Given the description of an element on the screen output the (x, y) to click on. 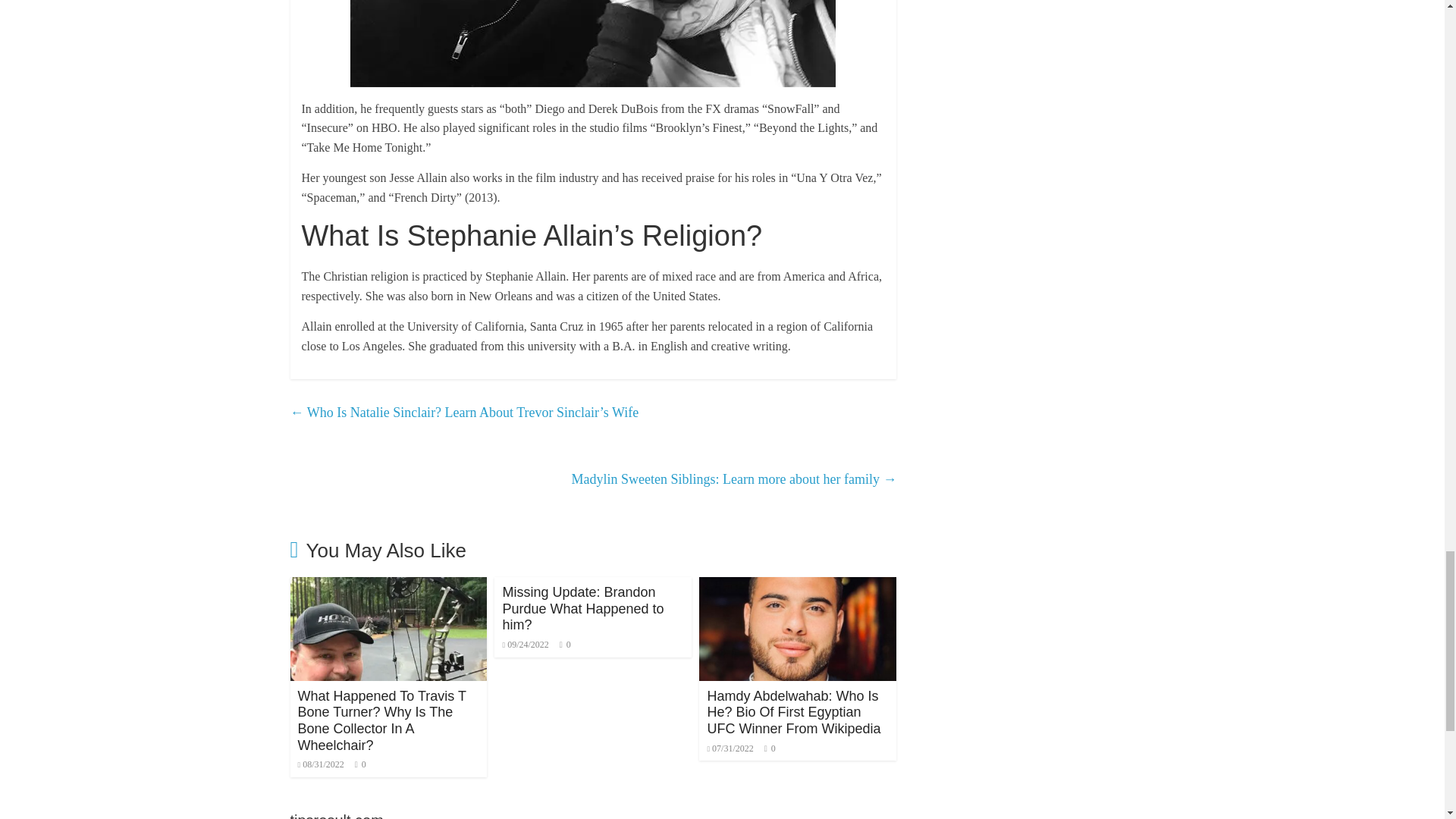
9:57 am (320, 764)
12:28 pm (525, 644)
Missing Update: Brandon Purdue What Happened to him? (582, 608)
Missing Update: Brandon Purdue What Happened to him? (582, 608)
